Given the description of an element on the screen output the (x, y) to click on. 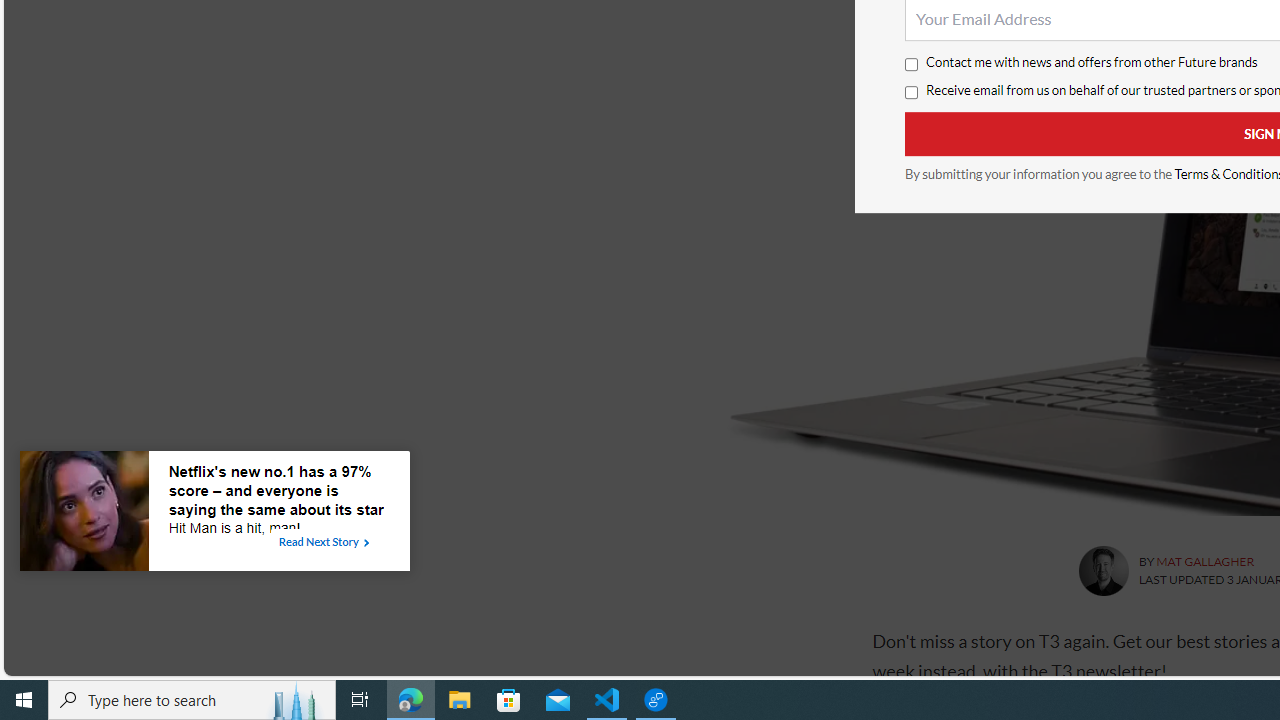
Class: tbl-arrow-icon arrow-1 (366, 543)
Image for Taboola Advertising Unit (84, 515)
Mat Gallagher (1102, 570)
Contact me with news and offers from other Future brands (910, 65)
MAT GALLAGHER (1204, 561)
Class: tbl-arrow-icon arrow-2 (366, 543)
Image for Taboola Advertising Unit (84, 515)
